Given the description of an element on the screen output the (x, y) to click on. 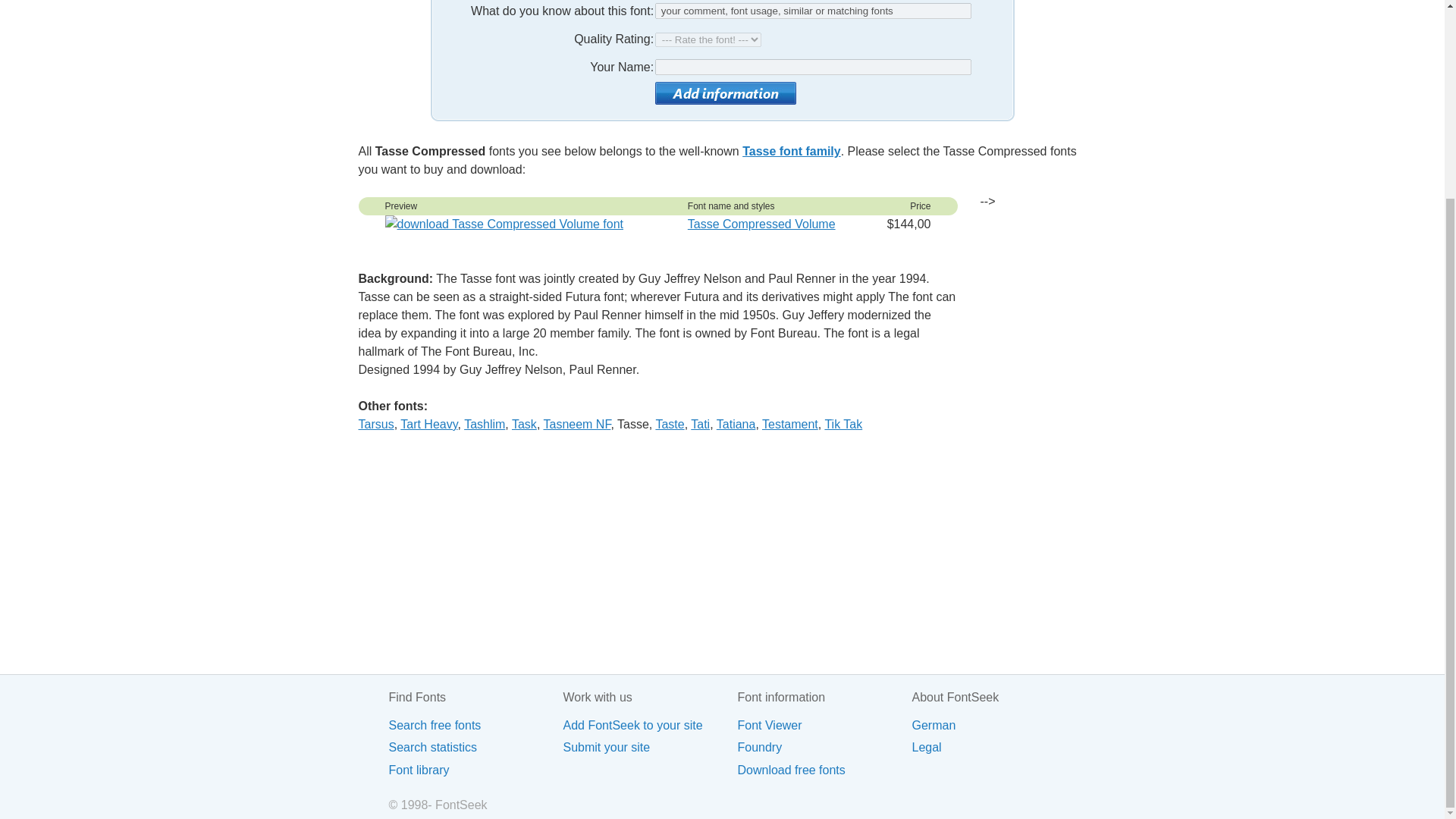
Tasse Compressed Volume (761, 223)
Legal (998, 747)
Legal (998, 747)
Search free fonts (475, 725)
Tik Tak (842, 423)
Font Viewer (823, 725)
German (998, 725)
Foundry (823, 747)
Download free fonts (823, 770)
Tasse font family (791, 151)
